Given the description of an element on the screen output the (x, y) to click on. 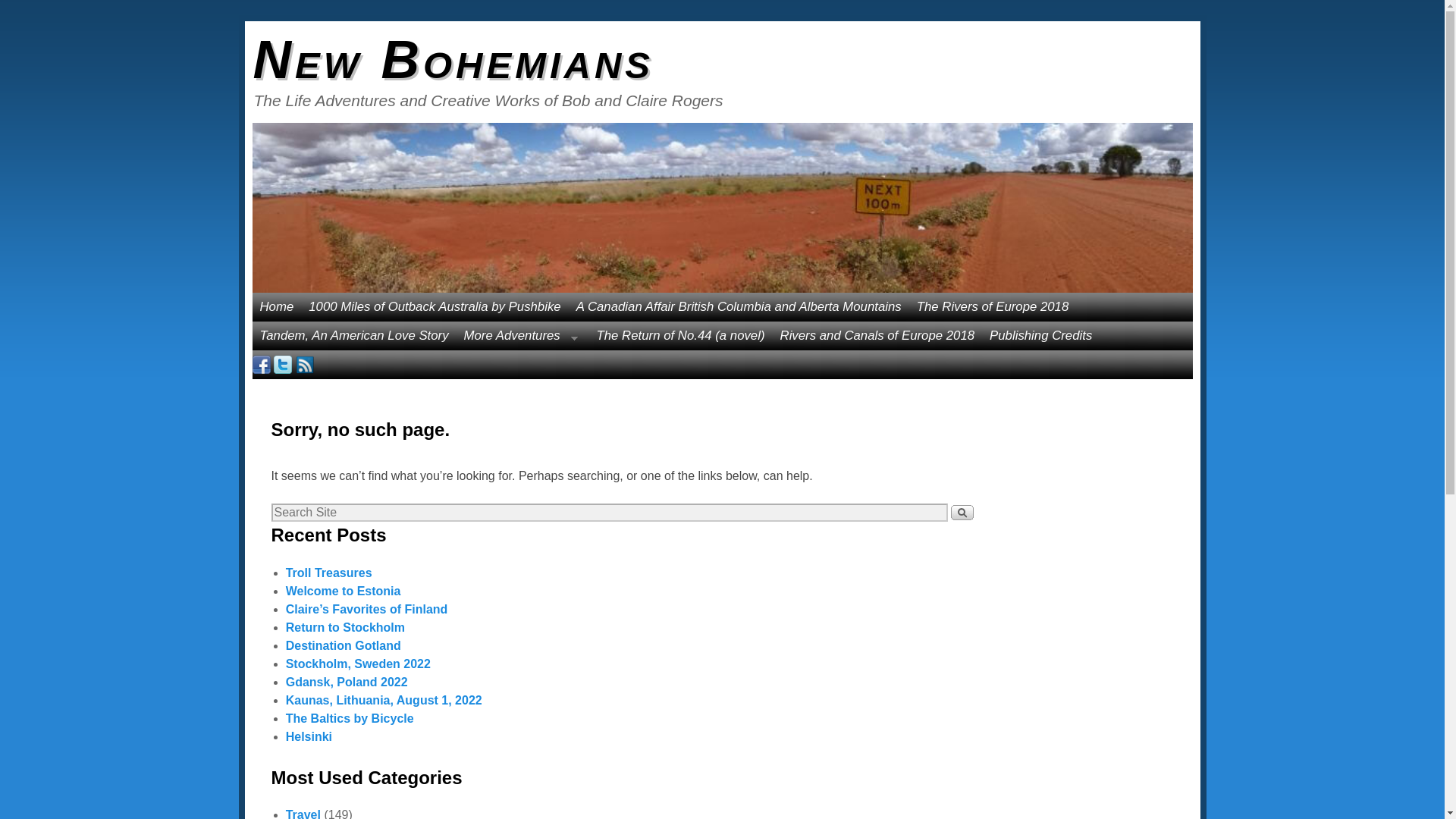
The Baltics by Bicycle (349, 717)
Tandem, An American Love Story (353, 335)
Home (276, 306)
The Rivers of Europe 2018 (992, 306)
Twitter (282, 364)
Skip to primary content (310, 300)
Facebook: social networking (260, 364)
1000 Miles of Outback Australia by Pushbike (434, 306)
Gdansk, Poland 2022 (346, 681)
Welcome to Estonia (343, 590)
Skip to secondary content (317, 300)
Facebook: social networking (260, 364)
Destination Gotland (343, 645)
Travel (302, 813)
This site's RSS feed (304, 364)
